Given the description of an element on the screen output the (x, y) to click on. 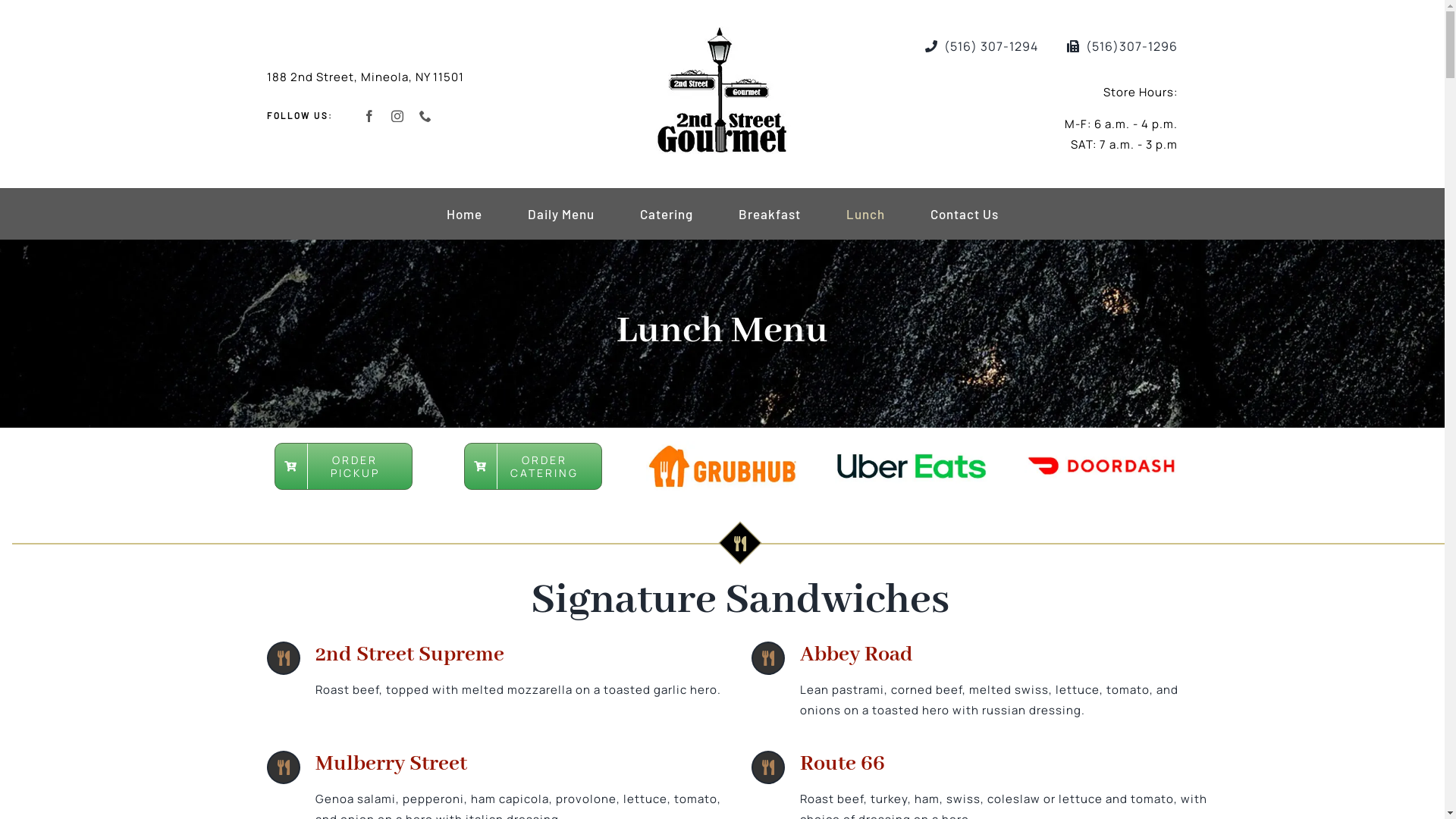
Daily Menu Element type: text (560, 213)
Contact Us Element type: text (963, 213)
ORDER CATERING Element type: text (533, 465)
(516)307-1296 Element type: text (1118, 45)
Phone Element type: hover (425, 115)
Lunch Element type: text (865, 213)
ORDER PICKUP Element type: text (343, 465)
Breakfast Element type: text (769, 213)
Instagram Element type: hover (397, 115)
Home Element type: text (463, 213)
Catering Element type: text (666, 213)
Facebook Element type: hover (369, 115)
(516) 307-1294 Element type: text (978, 45)
